Given the description of an element on the screen output the (x, y) to click on. 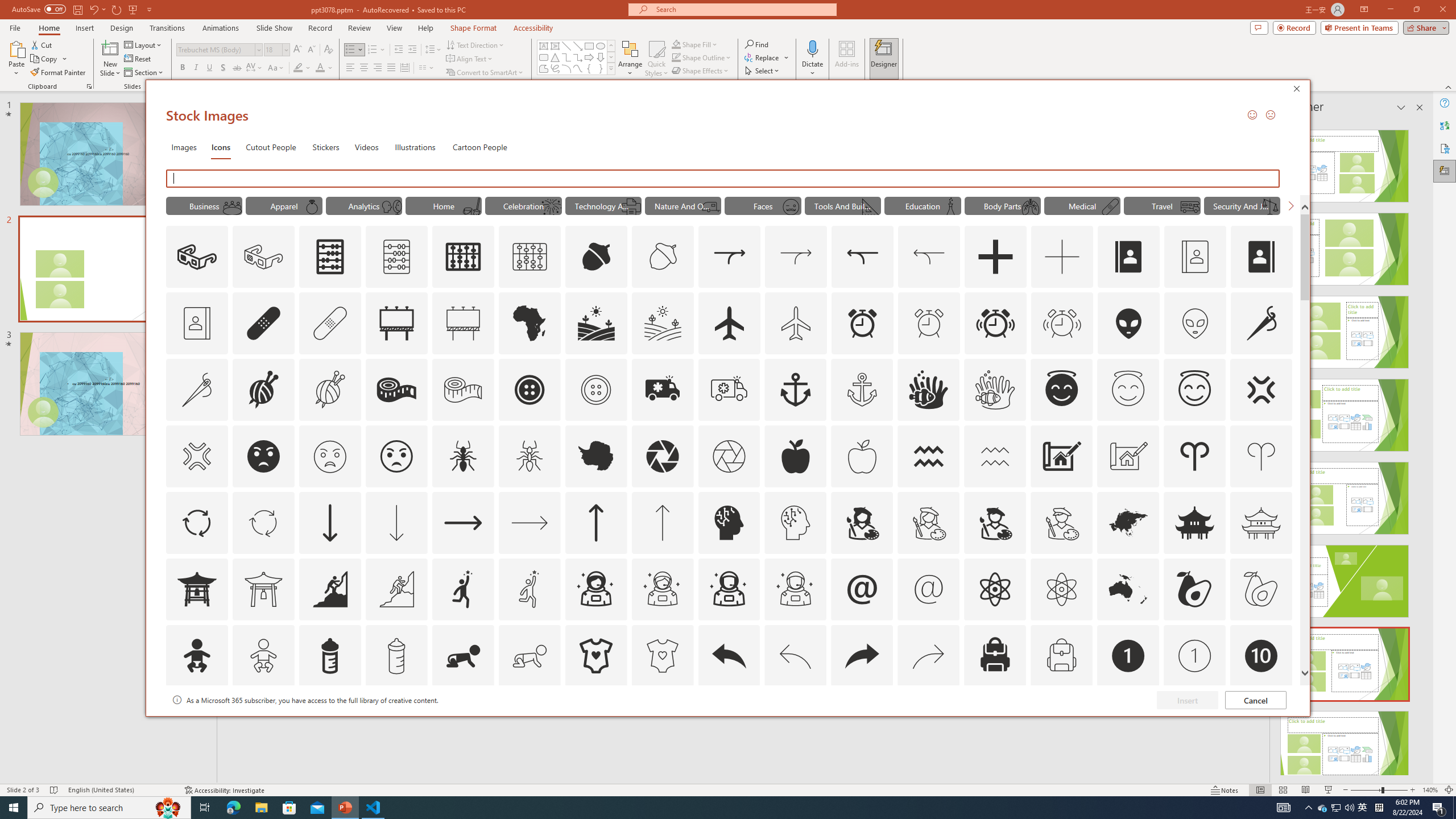
AutomationID: Icons_Abacus (330, 256)
Line Spacing (433, 49)
AutomationID: Icons_Badge9 (1194, 721)
AutomationID: Icons_AnemoneAndClownfish_M (995, 389)
"Apparel" Icons. (283, 205)
Decrease Indent (398, 49)
